Given the description of an element on the screen output the (x, y) to click on. 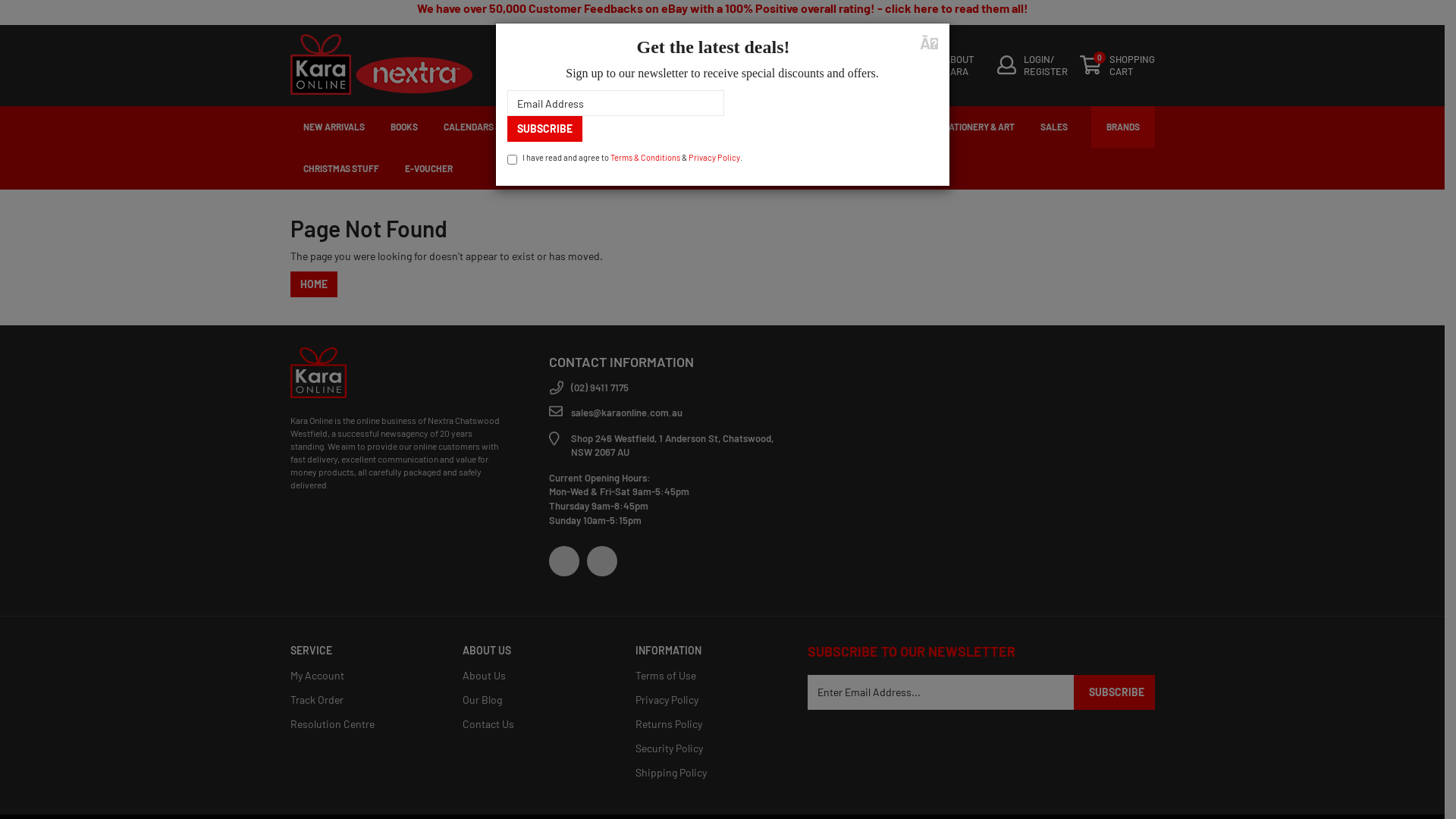
DIARIES & ORGANISERS Element type: text (618, 126)
LOGIN/
REGISTER Element type: text (1031, 67)
NEW ARRIVALS Element type: text (332, 126)
Nextra Chatswood (Karaonline) Element type: hover (317, 370)
BOOKS Element type: text (403, 126)
Nextra Chatswood (Karaonline) Element type: hover (380, 62)
CHRISTMAS STUFF Element type: text (340, 168)
BRANDS Element type: text (1122, 126)
Shipping Policy Element type: text (703, 772)
Terms of Use Element type: text (703, 675)
Track Order Element type: text (359, 699)
Contact Us Element type: text (531, 723)
STATIONERY & ART Element type: text (975, 126)
Privacy Policy Element type: text (714, 157)
Subscribe Element type: text (543, 128)
Terms & Conditions Element type: text (644, 157)
ABOUT
KARA Element type: text (951, 67)
SALES Element type: text (1052, 126)
Instagram Element type: text (601, 561)
CALENDARS & PLANNERS Element type: text (495, 126)
My Account Element type: text (359, 675)
Search Element type: text (510, 66)
E-VOUCHER Element type: text (427, 168)
sales@karaonline.com.au Element type: text (666, 412)
0
SHOPPING
CART Element type: text (1116, 67)
HOME Element type: text (312, 284)
Resolution Centre Element type: text (359, 723)
(02) 9411 7175 Element type: text (666, 387)
About Us Element type: text (531, 675)
SUBSCRIBE Element type: text (1113, 691)
Our Blog Element type: text (531, 699)
GIFTS & HOMEWARE Element type: text (730, 126)
Privacy Policy Element type: text (703, 699)
Returns Policy Element type: text (703, 723)
Facebook Element type: text (564, 561)
Security Policy Element type: text (703, 748)
CONTACT
(02) 9411 7175 Element type: text (861, 67)
CARDS, INVITES, POSTCARDS Element type: text (854, 126)
